Given the description of an element on the screen output the (x, y) to click on. 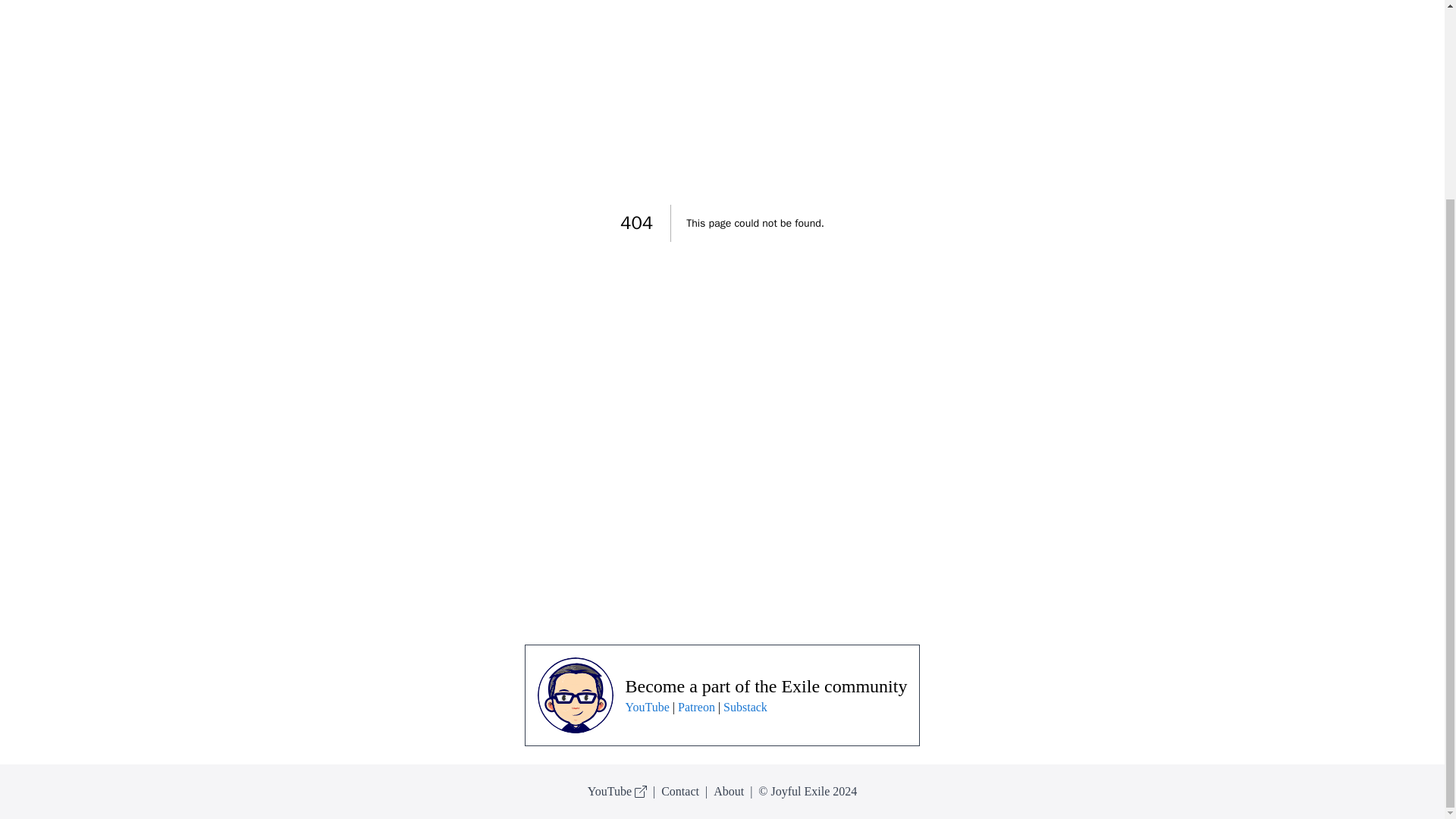
Substack (745, 707)
YouTube (647, 707)
Patreon (696, 707)
